Given the description of an element on the screen output the (x, y) to click on. 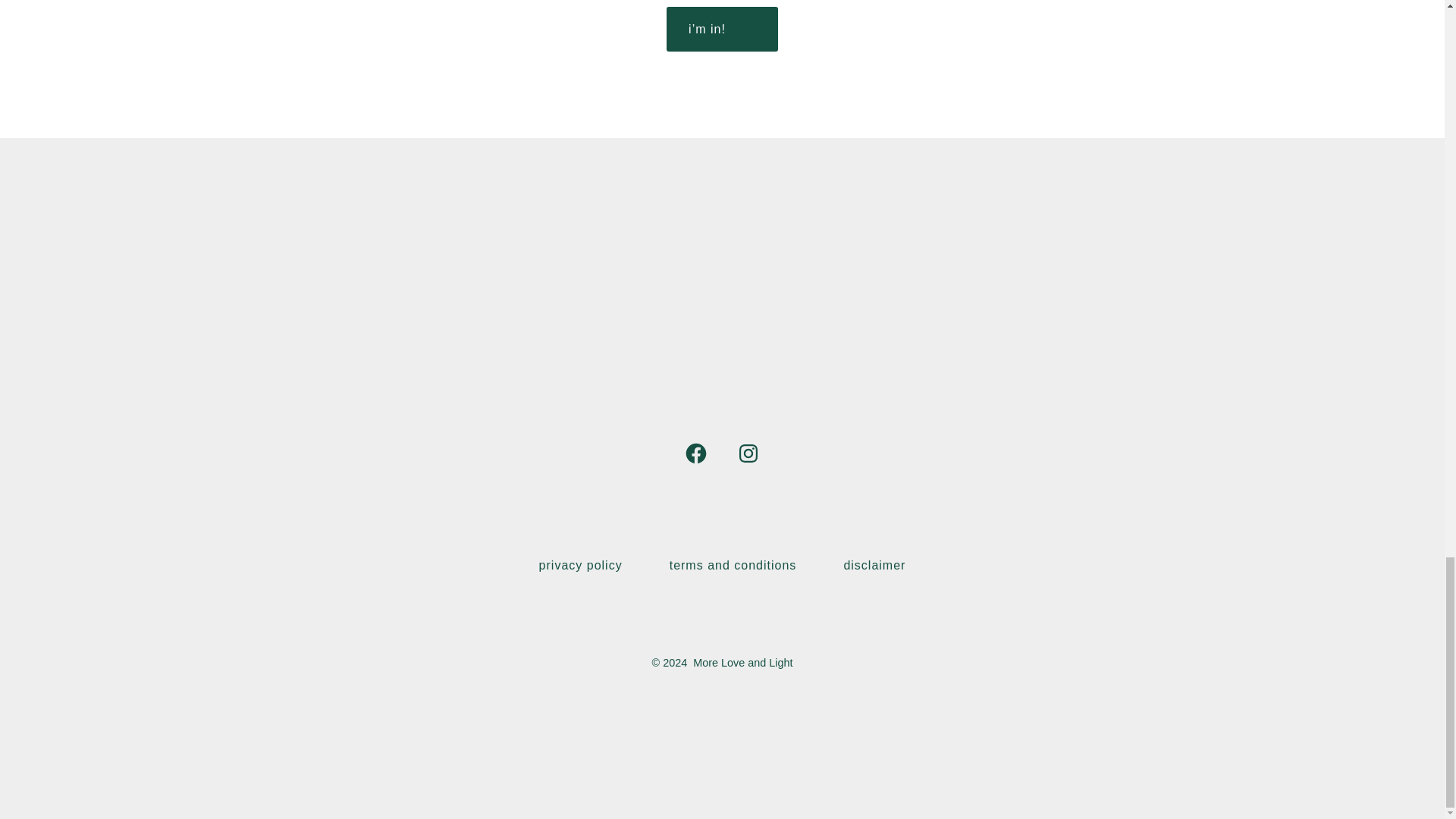
Open Facebook in a new tab (695, 453)
privacy policy (580, 565)
Open Instagram in a new tab (748, 453)
disclaimer (875, 565)
terms and conditions (732, 565)
